Given the description of an element on the screen output the (x, y) to click on. 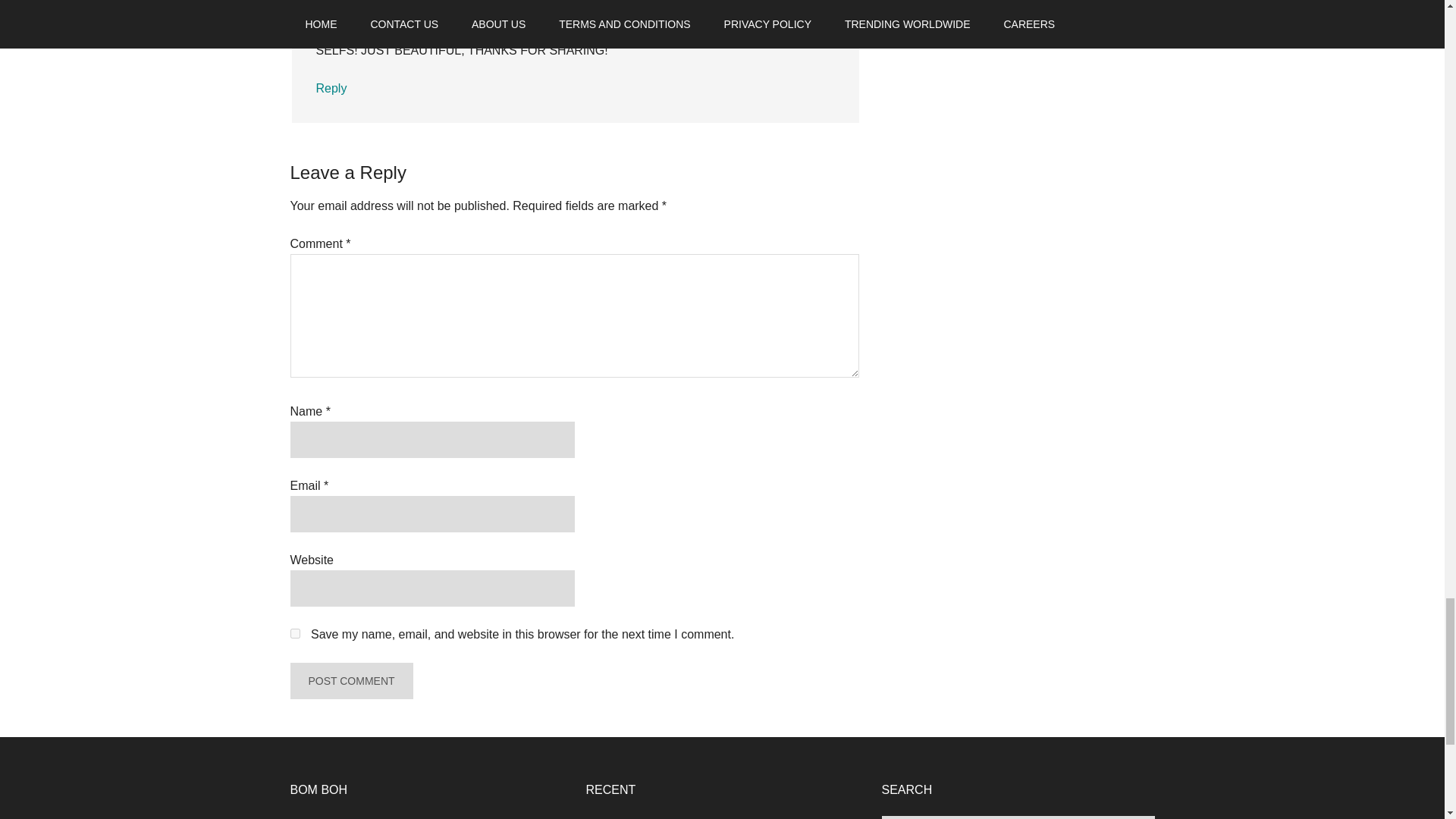
Post Comment (350, 680)
Reply (330, 88)
Post Comment (350, 680)
yes (294, 633)
